Given the description of an element on the screen output the (x, y) to click on. 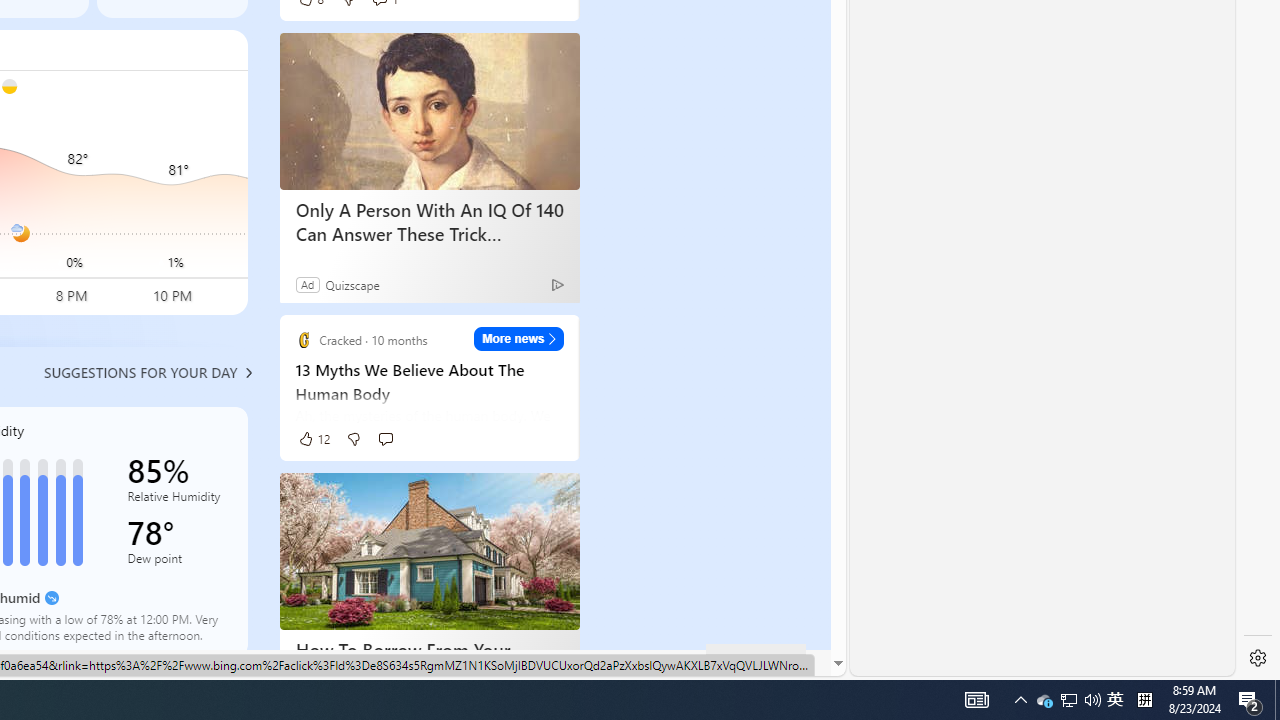
Dew point (176, 562)
Consumer Health Privacy (189, 663)
Terms of use (431, 663)
Suggestions for your day (140, 372)
Terms of use (431, 662)
Consumer Health Privacy (189, 662)
